Given the description of an element on the screen output the (x, y) to click on. 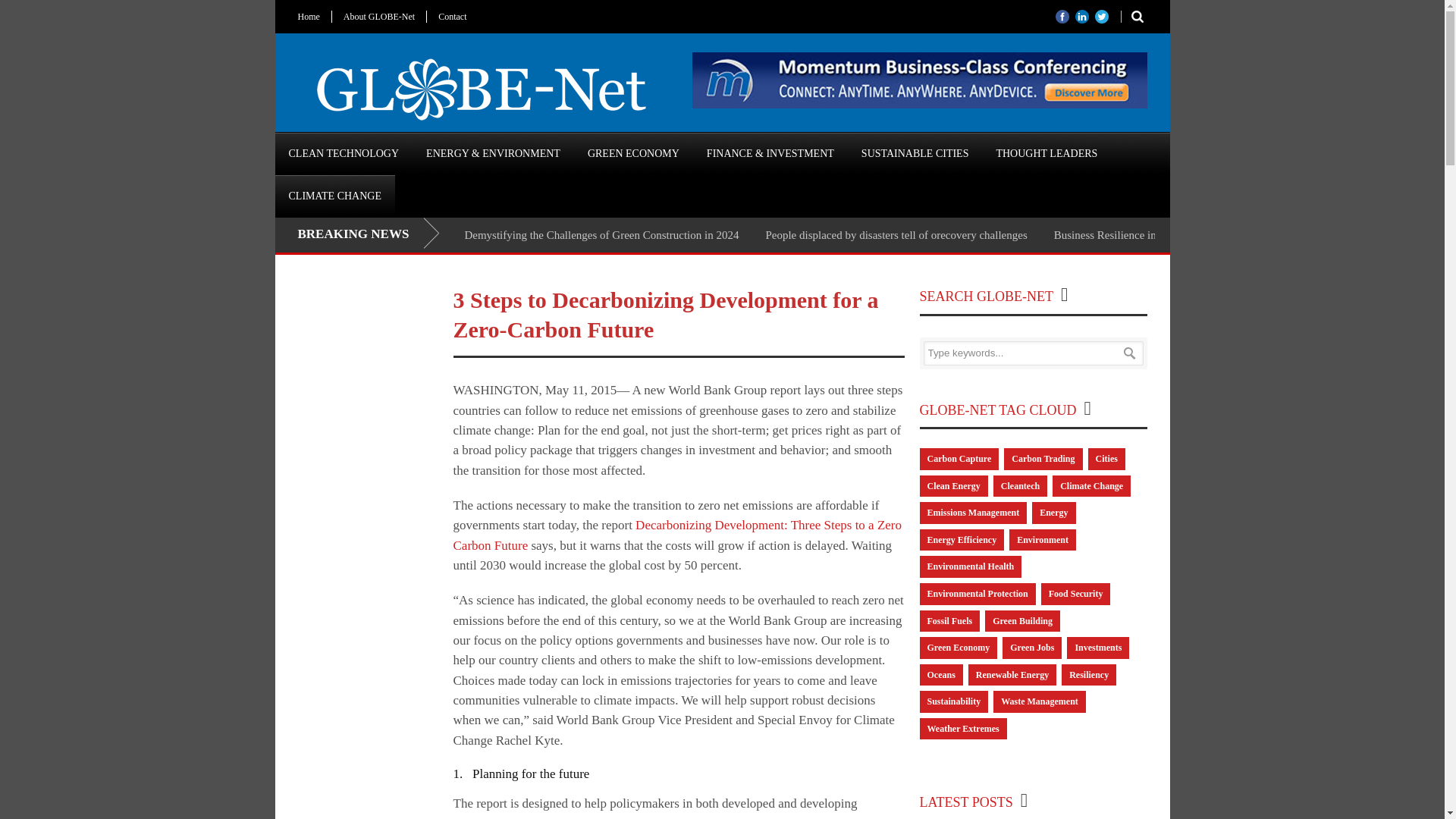
Carbon Capture (958, 458)
Carbon Trading (1042, 458)
Type keywords... (1032, 353)
154 topics (970, 567)
53 topics (961, 540)
118 topics (1019, 486)
THOUGHT LEADERS (1045, 153)
CLEAN TECHNOLOGY (343, 153)
4 topics (1042, 540)
Business Resilience in the Face of Environmental Uncertainty (1195, 234)
34 topics (958, 458)
CLIMATE CHANGE (334, 196)
156 topics (952, 486)
53 topics (1053, 513)
